Given the description of an element on the screen output the (x, y) to click on. 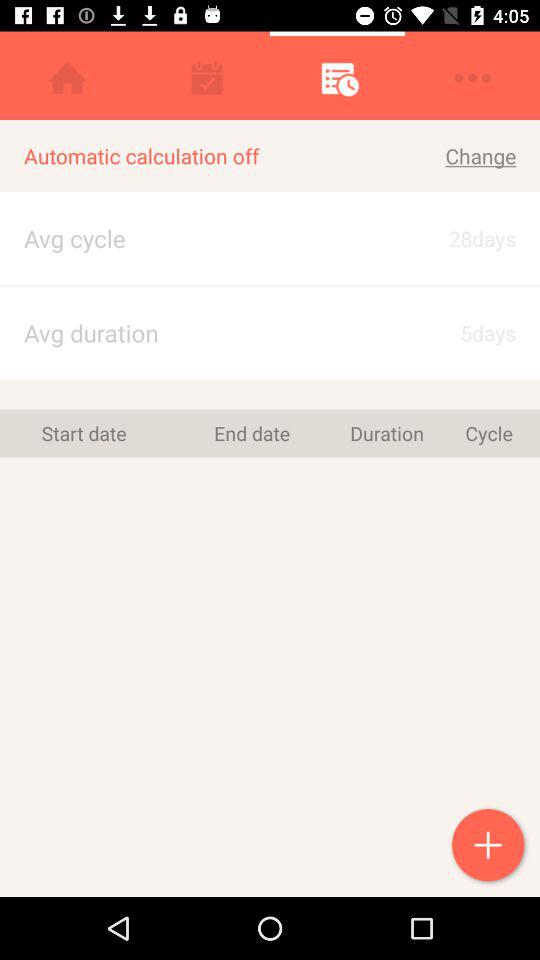
turn on the avg cycle app (189, 238)
